Given the description of an element on the screen output the (x, y) to click on. 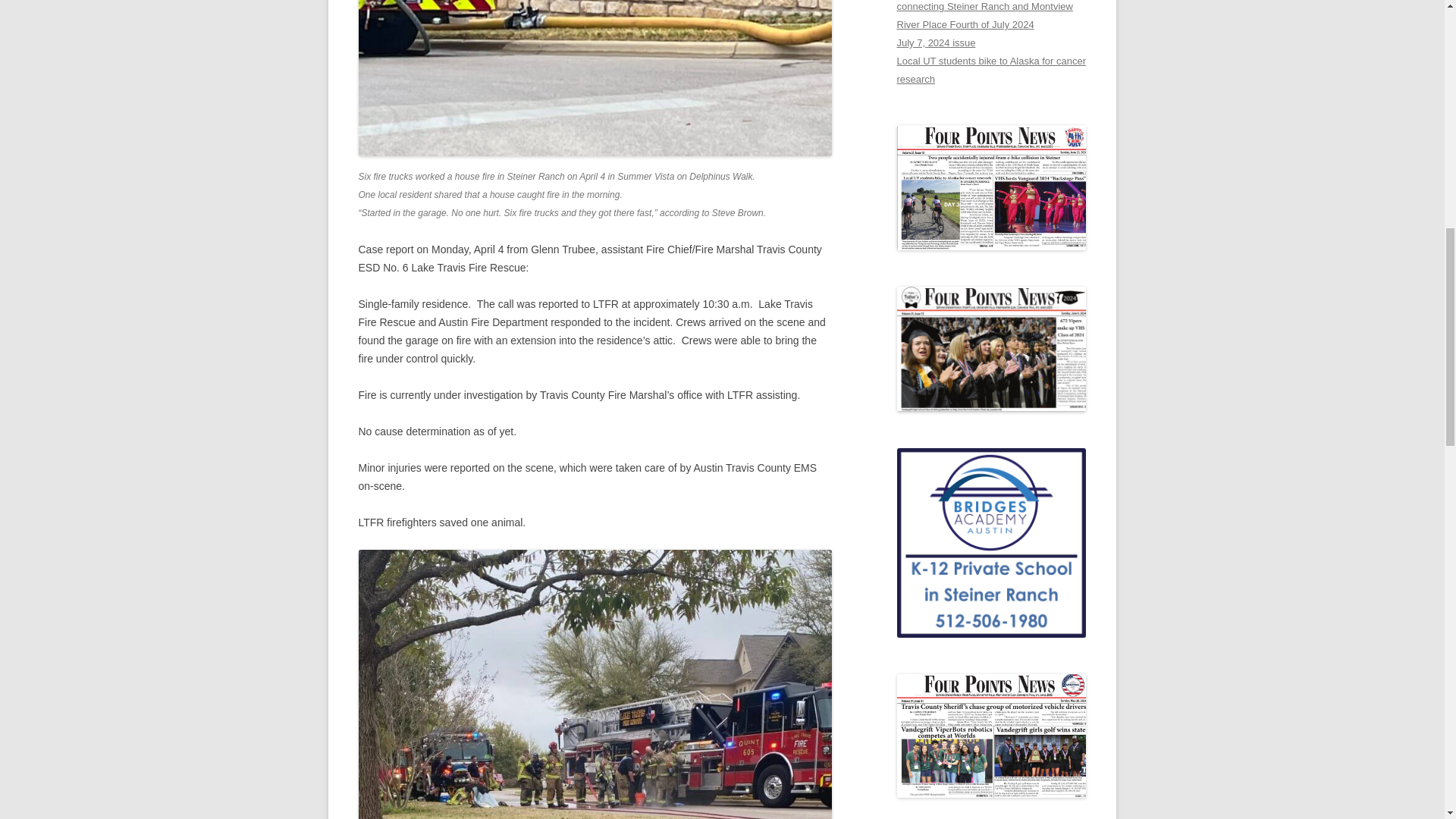
Local UT students bike to Alaska for cancer research (990, 70)
July 7, 2024 issue (935, 42)
River Place Fourth of July 2024 (964, 24)
